Given the description of an element on the screen output the (x, y) to click on. 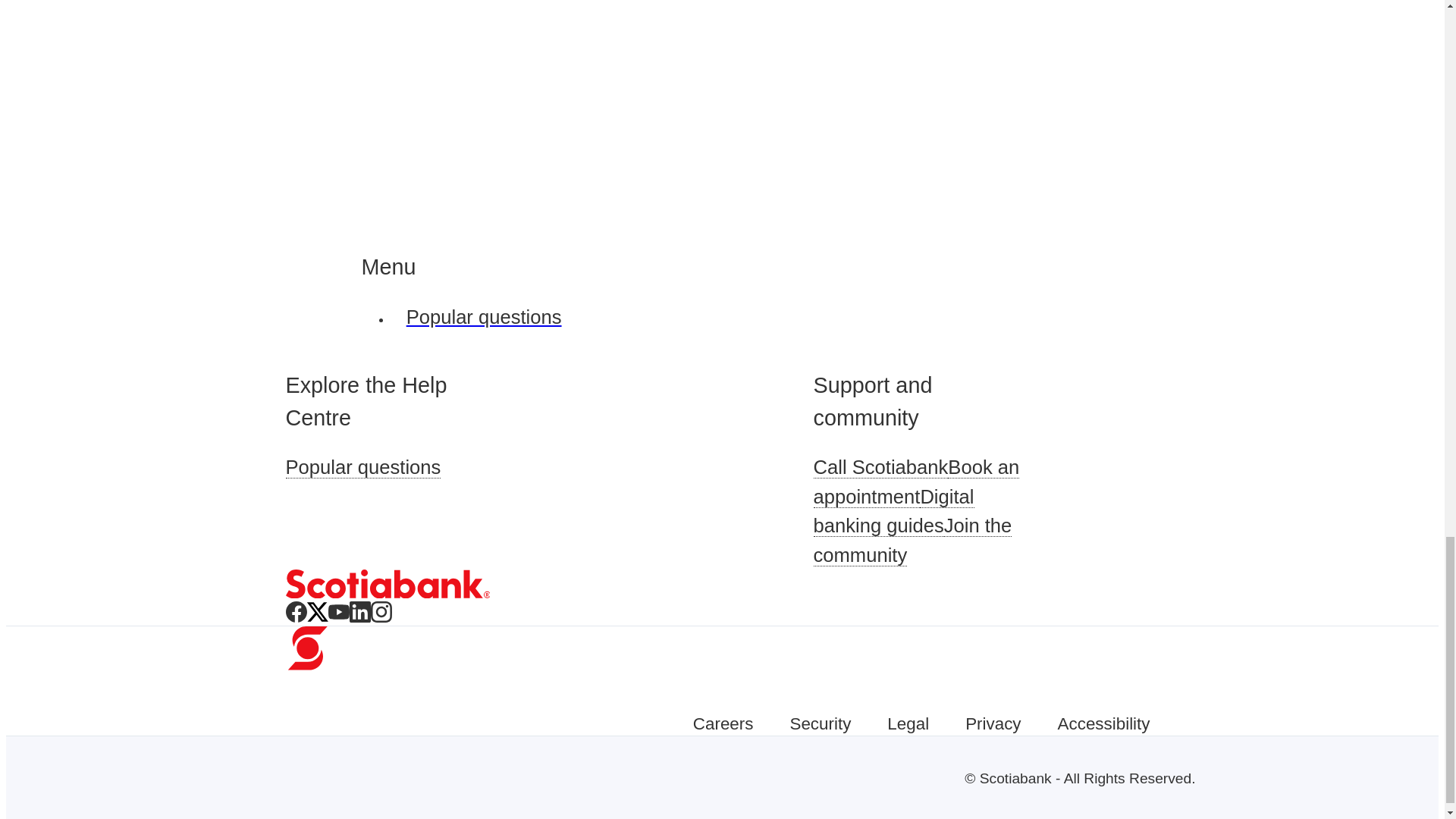
Scotiabank (387, 594)
Call Scotiabank (879, 467)
Popular questions (497, 316)
Careers (723, 723)
Scotiabank (387, 583)
Popular questions (363, 467)
Privacy (992, 723)
Accessibility (1104, 723)
Security (819, 723)
Book an appointment (915, 481)
Join the community (911, 540)
Digital banking guides (893, 511)
